Given the description of an element on the screen output the (x, y) to click on. 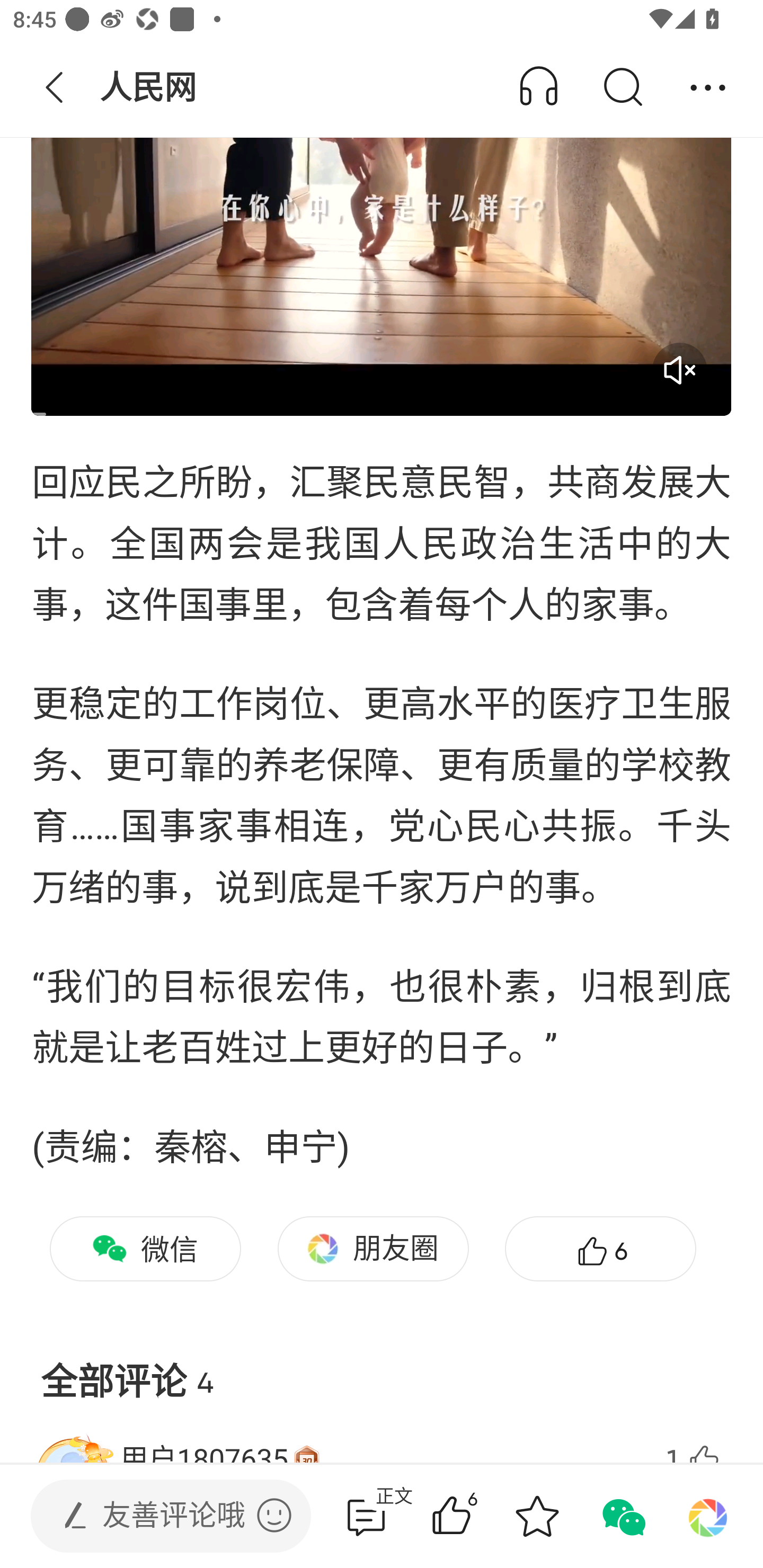
03:49 (381, 218)
人民网 (150, 87)
搜索  (622, 87)
分享  (707, 87)
 返回 (54, 87)
音量开关 (679, 369)
微信 分享到微信 (145, 1248)
朋友圈 分享到朋友圈 (373, 1248)
6赞 (600, 1248)
全部评论 4 (381, 1366)
发表评论  友善评论哦 发表评论  (155, 1516)
4评论  正文 正文 (365, 1516)
6赞 (476, 1516)
收藏  (536, 1516)
分享到微信  (622, 1516)
分享到朋友圈 (707, 1516)
 (274, 1515)
